Given the description of an element on the screen output the (x, y) to click on. 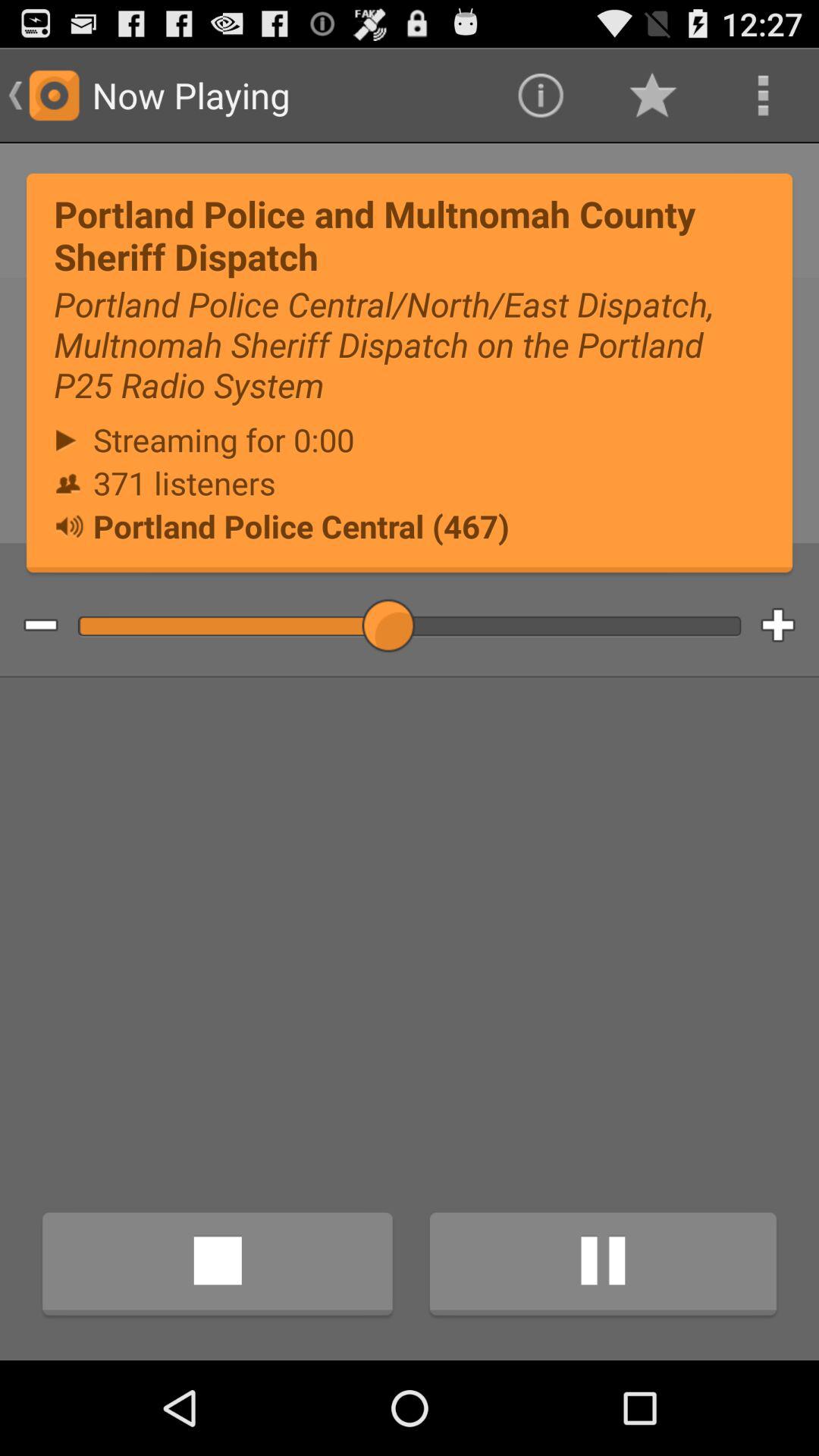
turn off icon at the bottom left corner (217, 1266)
